Given the description of an element on the screen output the (x, y) to click on. 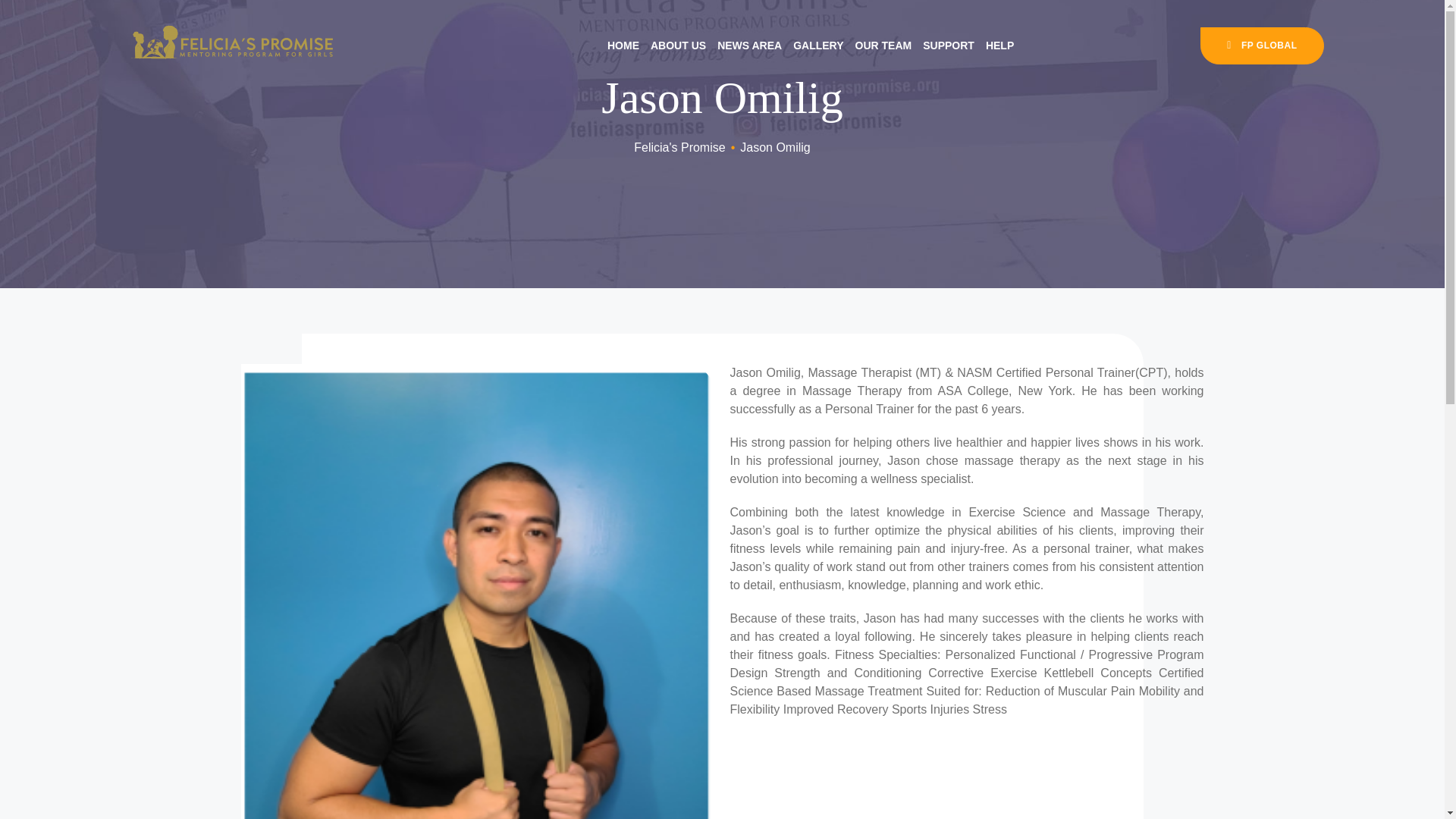
GALLERY (818, 45)
SUPPORT (948, 45)
OUR TEAM (884, 45)
Go to Felicia's Promise. (679, 146)
NEWS AREA (749, 45)
ABOUT US (678, 45)
